Given the description of an element on the screen output the (x, y) to click on. 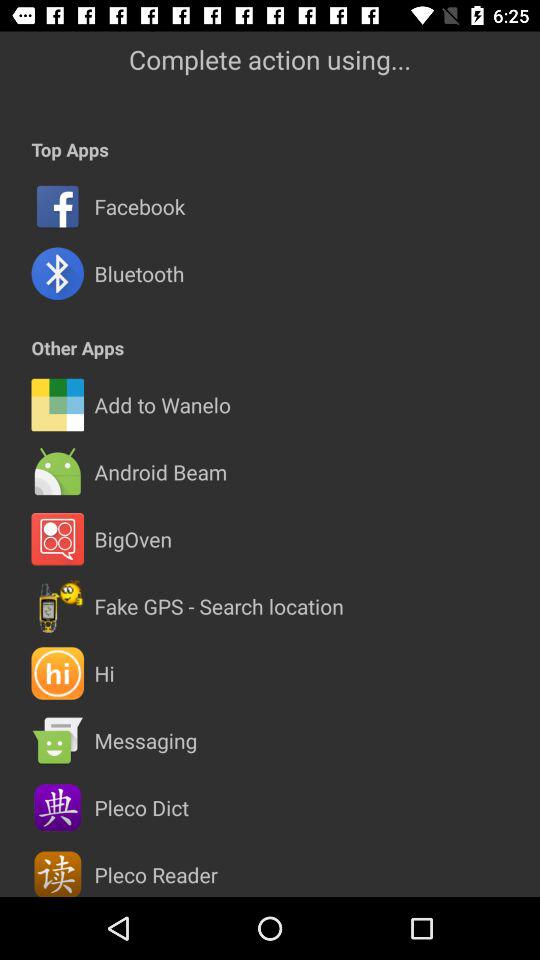
scroll to the pleco dict (141, 807)
